Given the description of an element on the screen output the (x, y) to click on. 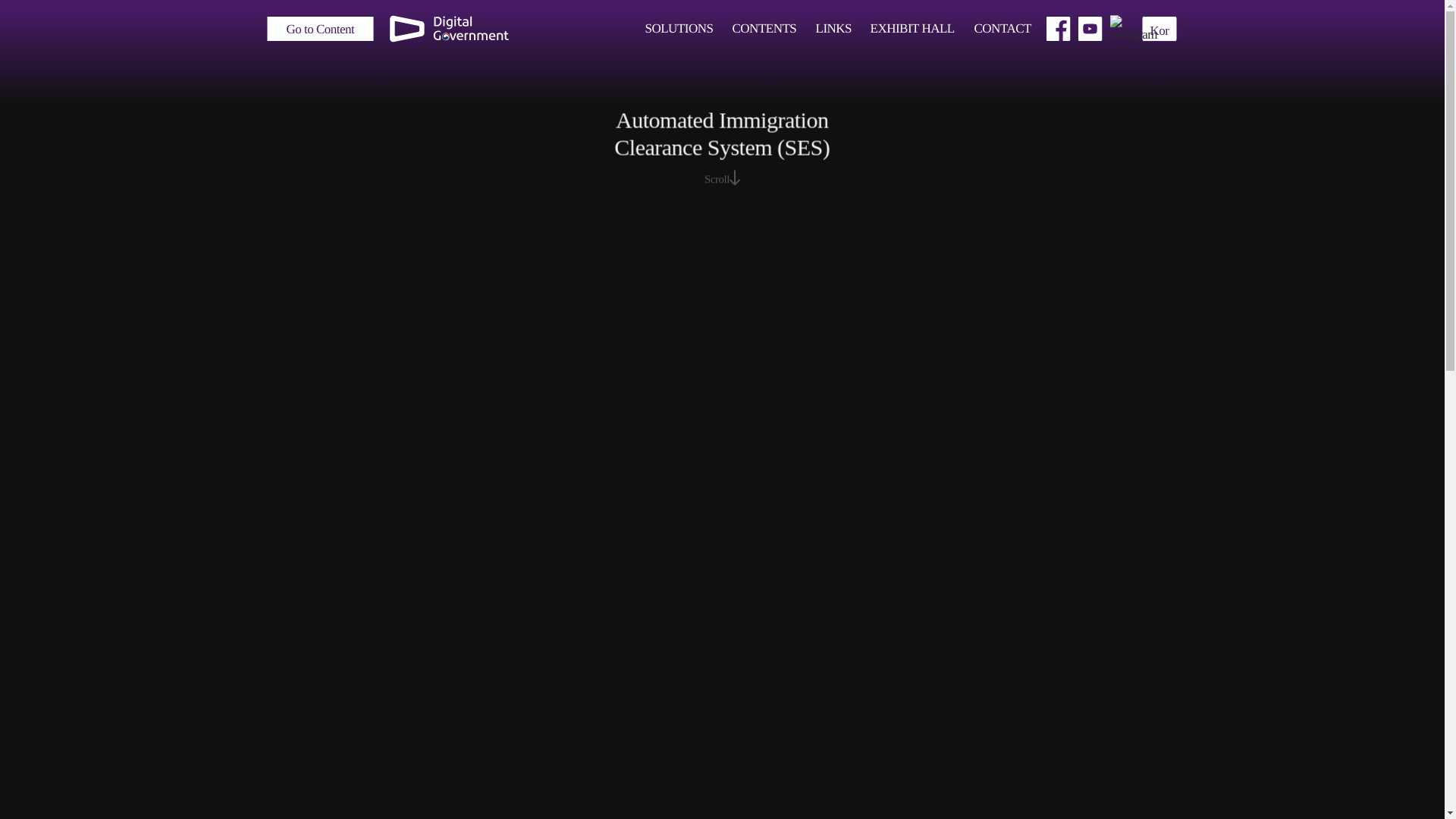
CONTACT (1002, 28)
Go to Content (319, 28)
Open new tab (1090, 28)
Open new tab (1058, 28)
SOLUTIONS (679, 28)
Open new tab (1121, 28)
EXHIBIT HALL (912, 28)
CONTENTS (764, 28)
LINKS (833, 28)
